Given the description of an element on the screen output the (x, y) to click on. 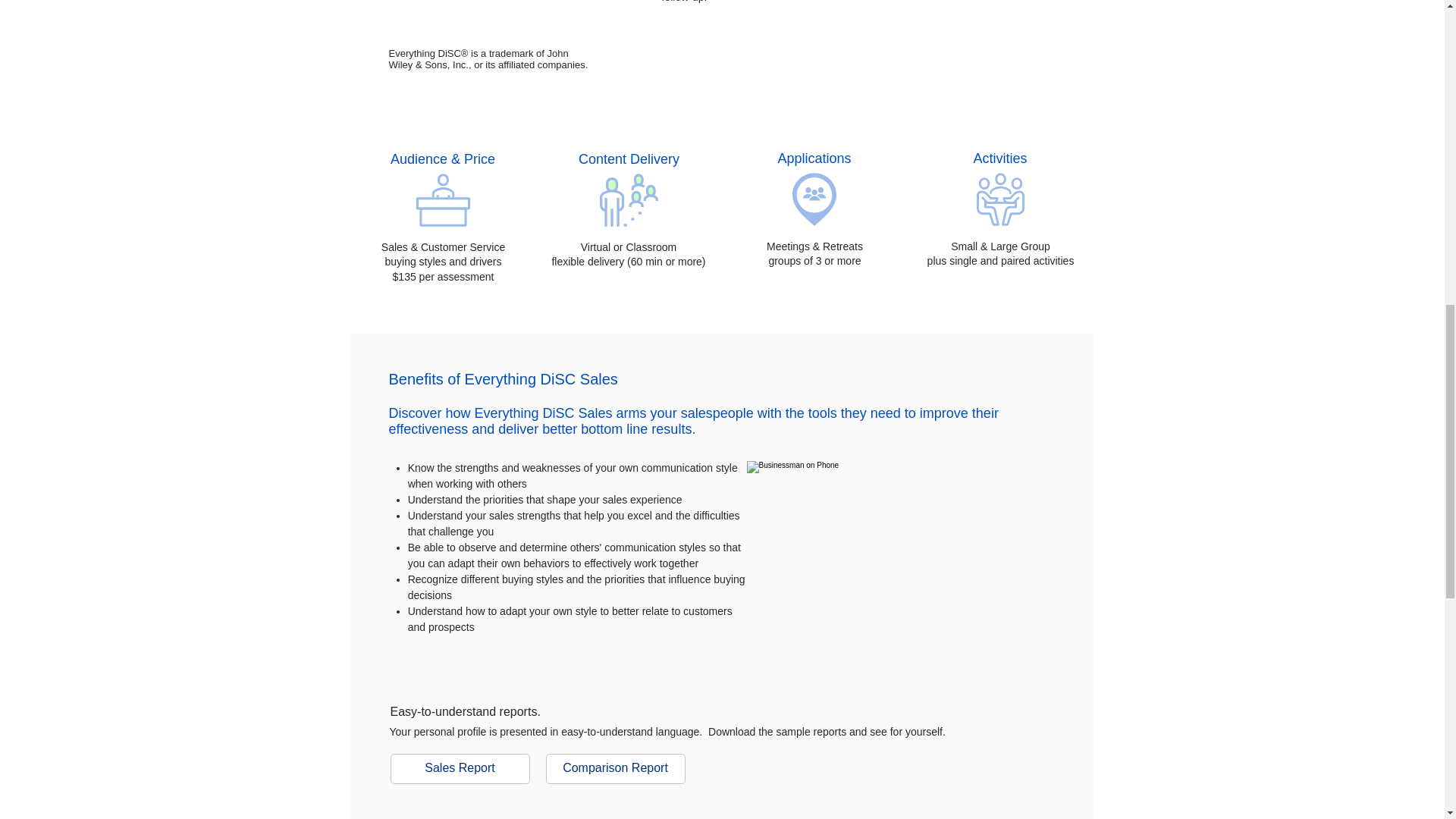
Comparison Report (615, 768)
Sales map (503, 17)
Successful Manager (899, 563)
Sales Report (459, 768)
